Given the description of an element on the screen output the (x, y) to click on. 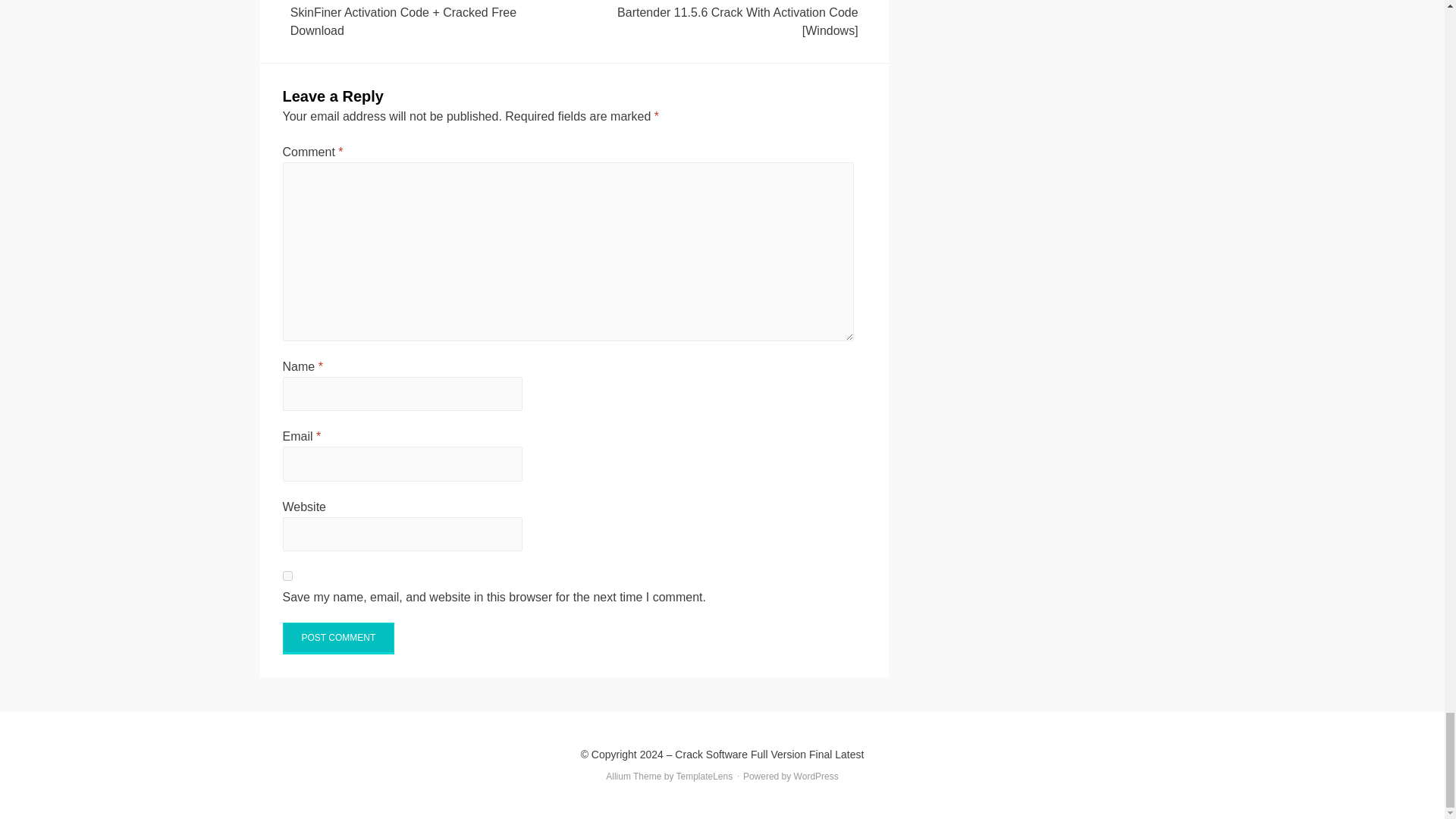
Post Comment (338, 638)
Post Comment (338, 638)
TemplateLens (705, 776)
WordPress (815, 776)
yes (287, 575)
